Given the description of an element on the screen output the (x, y) to click on. 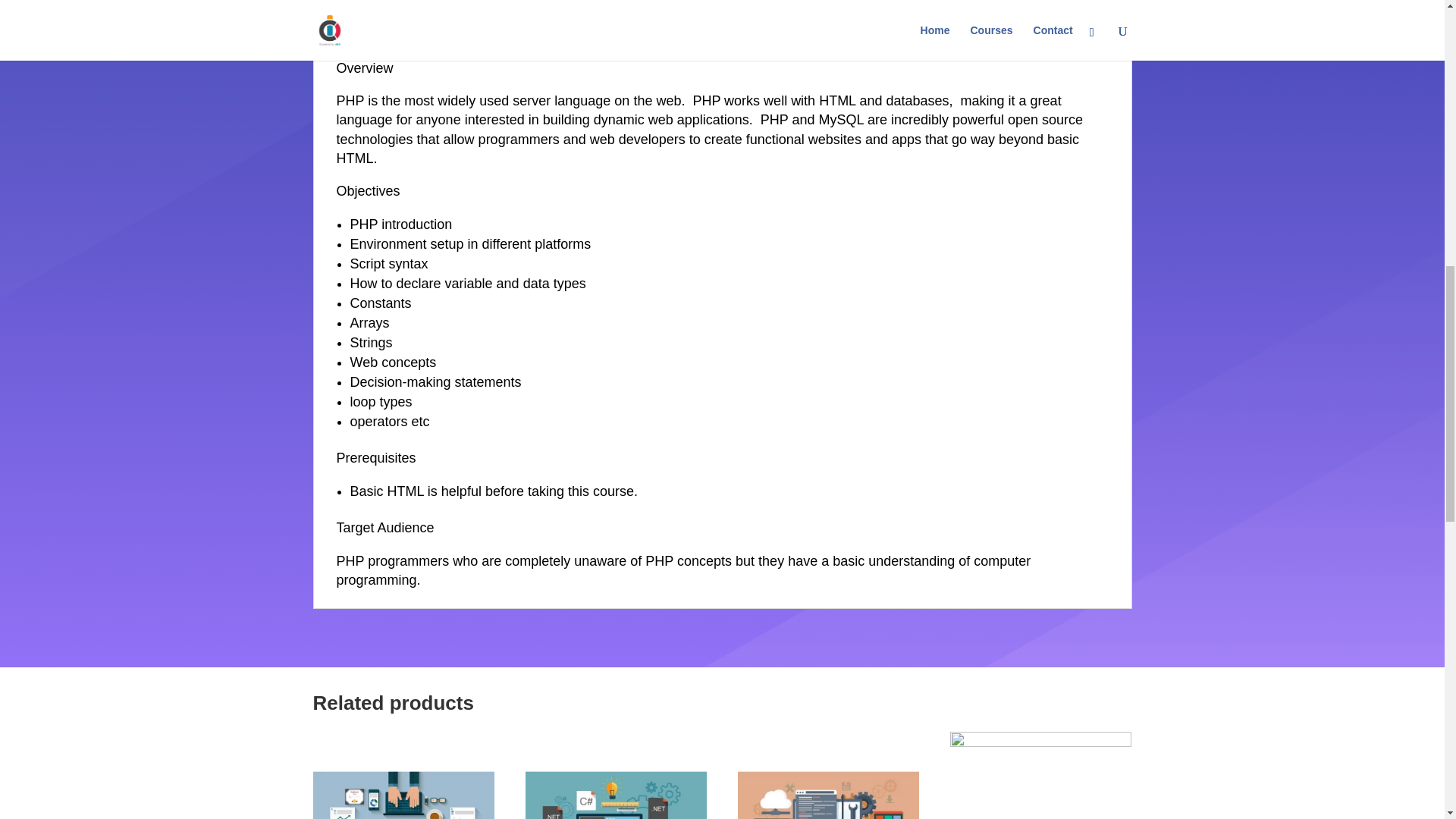
DESCRIPTION (376, 10)
